Given the description of an element on the screen output the (x, y) to click on. 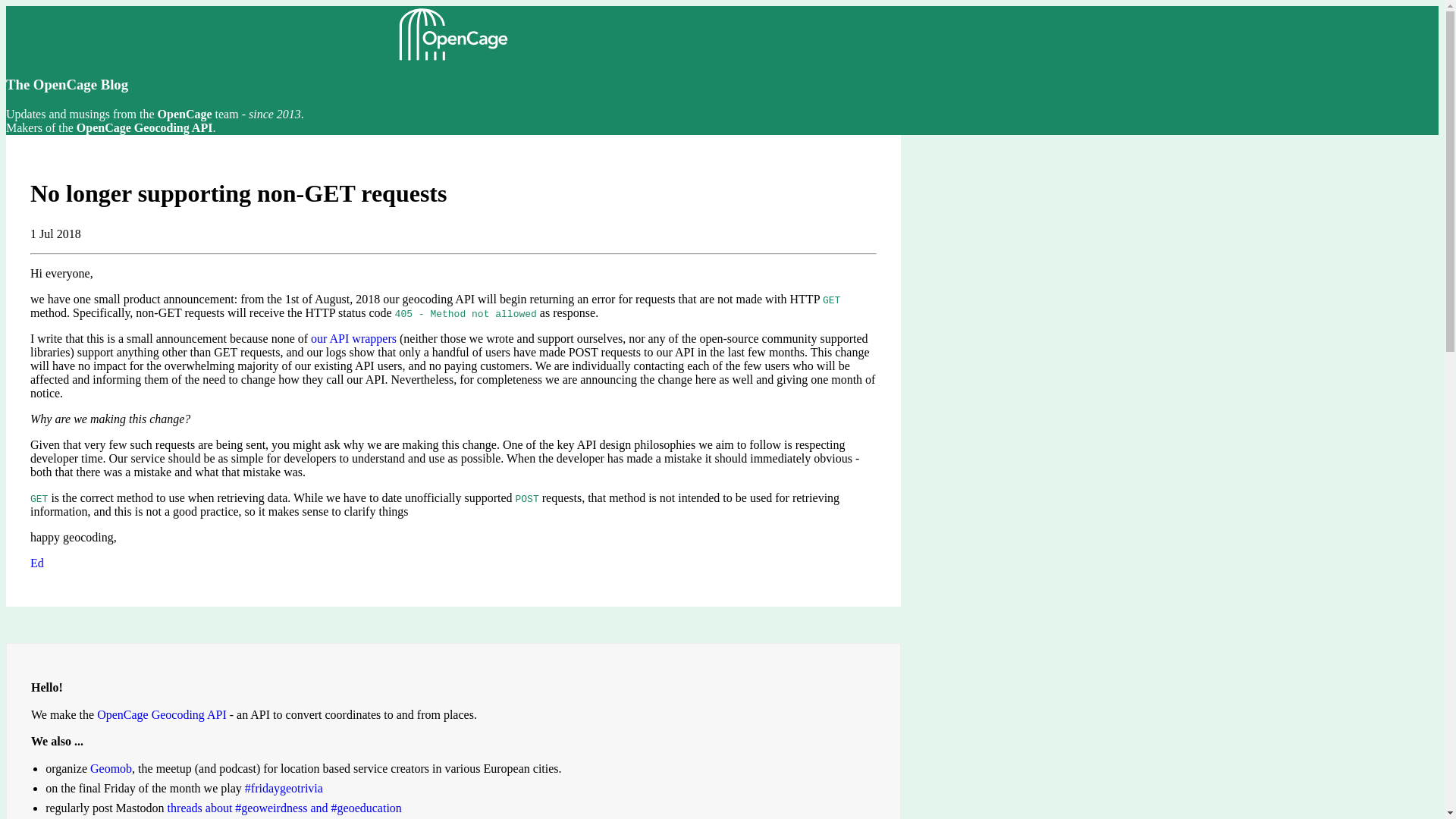
our API wrappers (353, 338)
Geomob (111, 768)
OpenCage Geocoding API (144, 127)
Ed (36, 562)
OpenCage (184, 113)
OpenCage Geocoding API (162, 714)
